Given the description of an element on the screen output the (x, y) to click on. 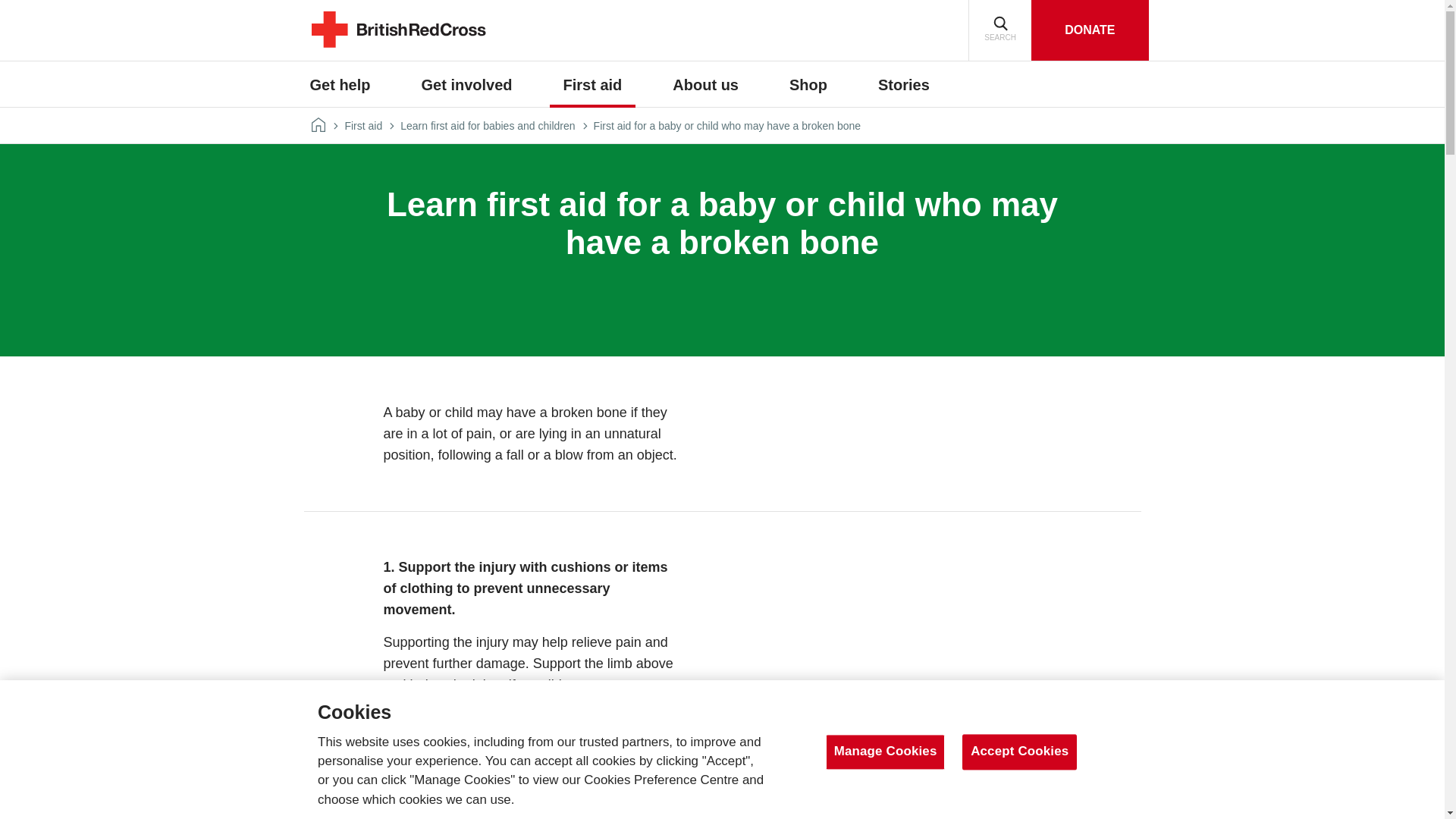
DONATE (1089, 30)
SEARCH (999, 30)
Get involved (466, 84)
About us (705, 84)
Get help (339, 84)
First aid (593, 84)
